Given the description of an element on the screen output the (x, y) to click on. 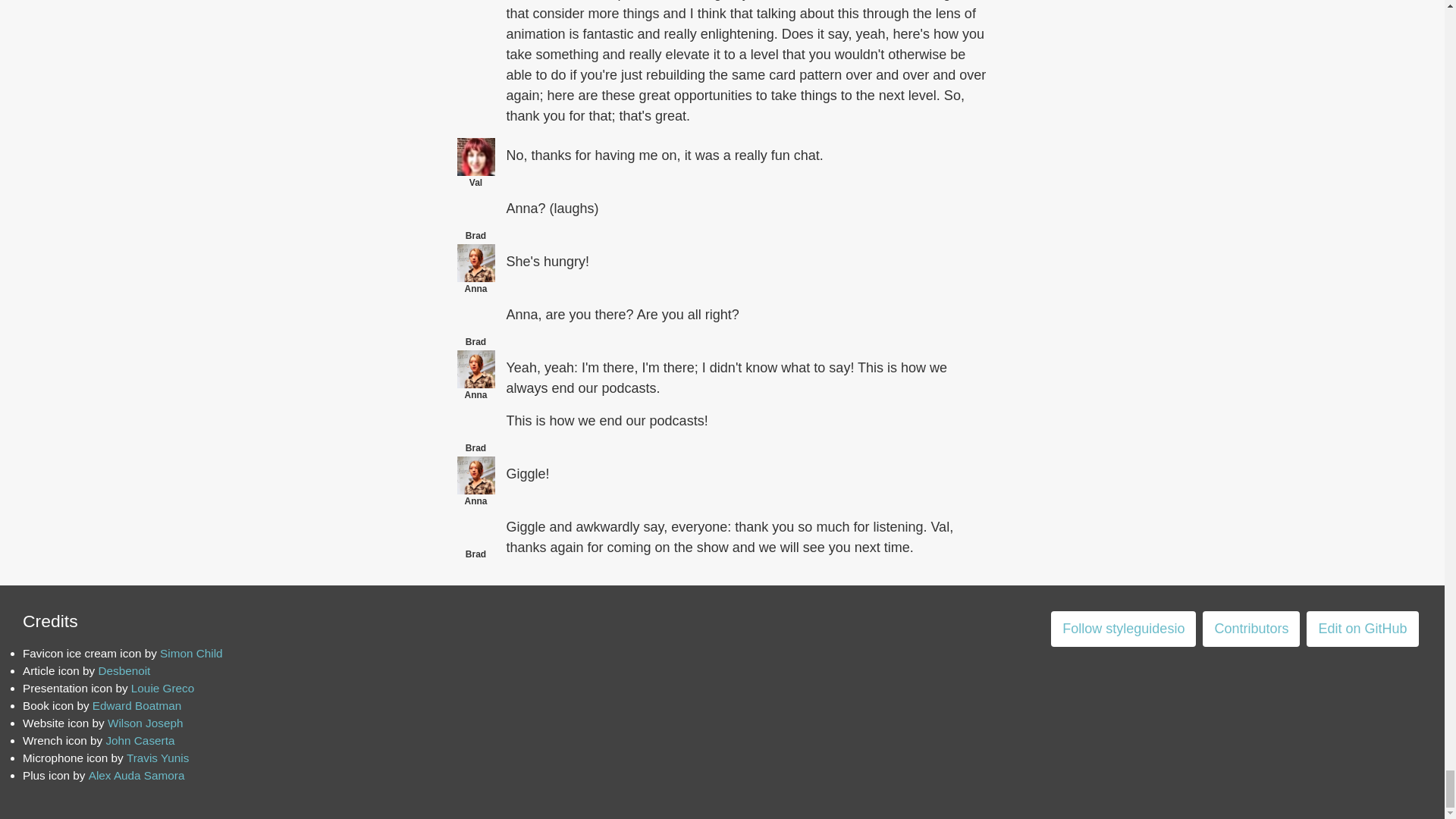
Edward Boatman (136, 705)
John Caserta (139, 739)
Alex Auda Samora (136, 775)
Edit on GitHub (1362, 628)
Simon Child (191, 653)
Wilson Joseph (145, 722)
Contributors (1251, 628)
Desbenoit (123, 670)
Louie Greco (162, 687)
Follow styleguidesio (1123, 628)
Travis Yunis (157, 757)
